Given the description of an element on the screen output the (x, y) to click on. 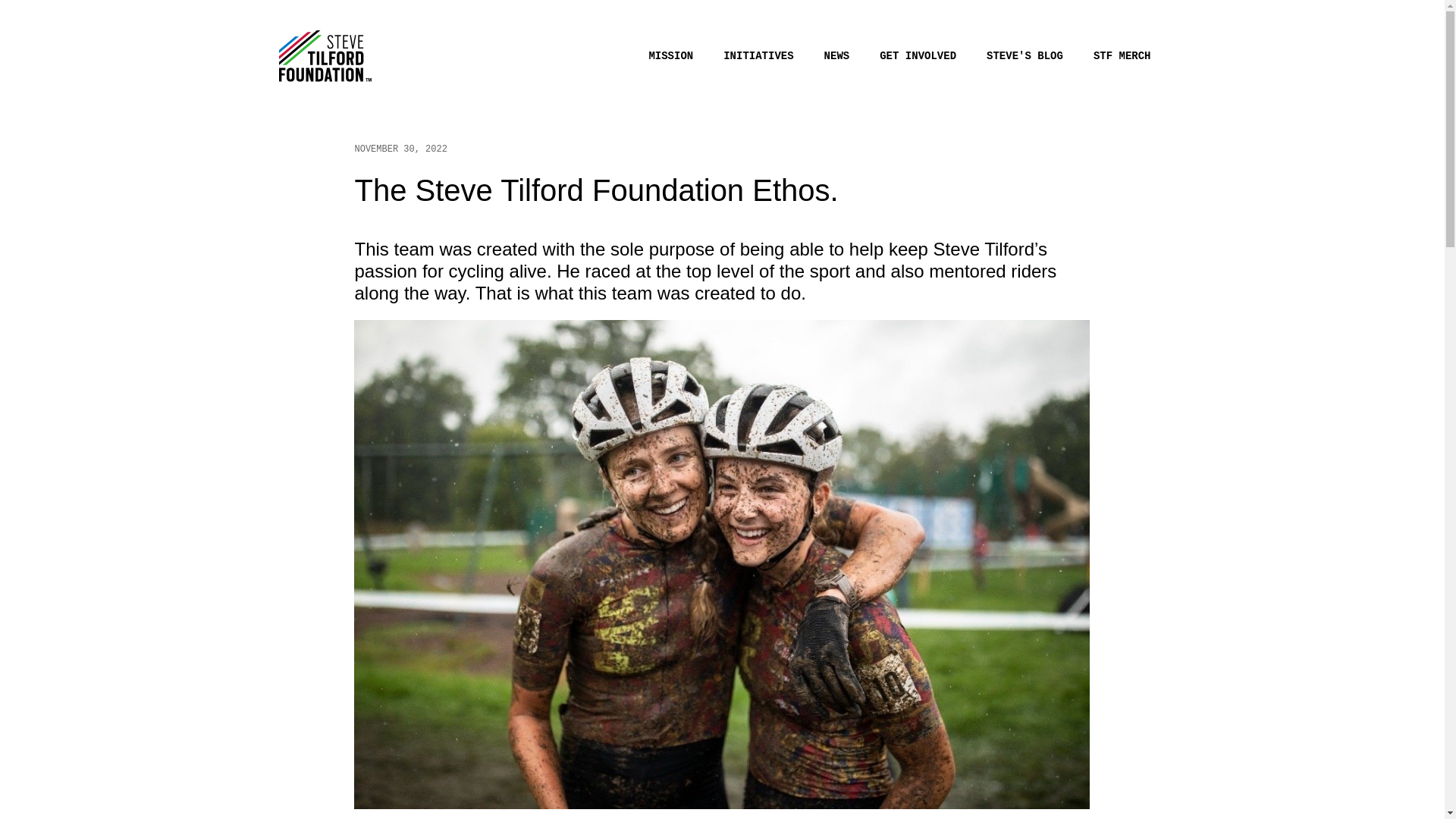
MISSION (670, 56)
Initiatives (757, 56)
INITIATIVES (757, 56)
STF MERCH (1122, 56)
Steve's Blog (1024, 56)
Get Involved (917, 56)
NEWS (836, 56)
STF Merch (1122, 56)
GET INVOLVED (917, 56)
Mission (670, 56)
